Given the description of an element on the screen output the (x, y) to click on. 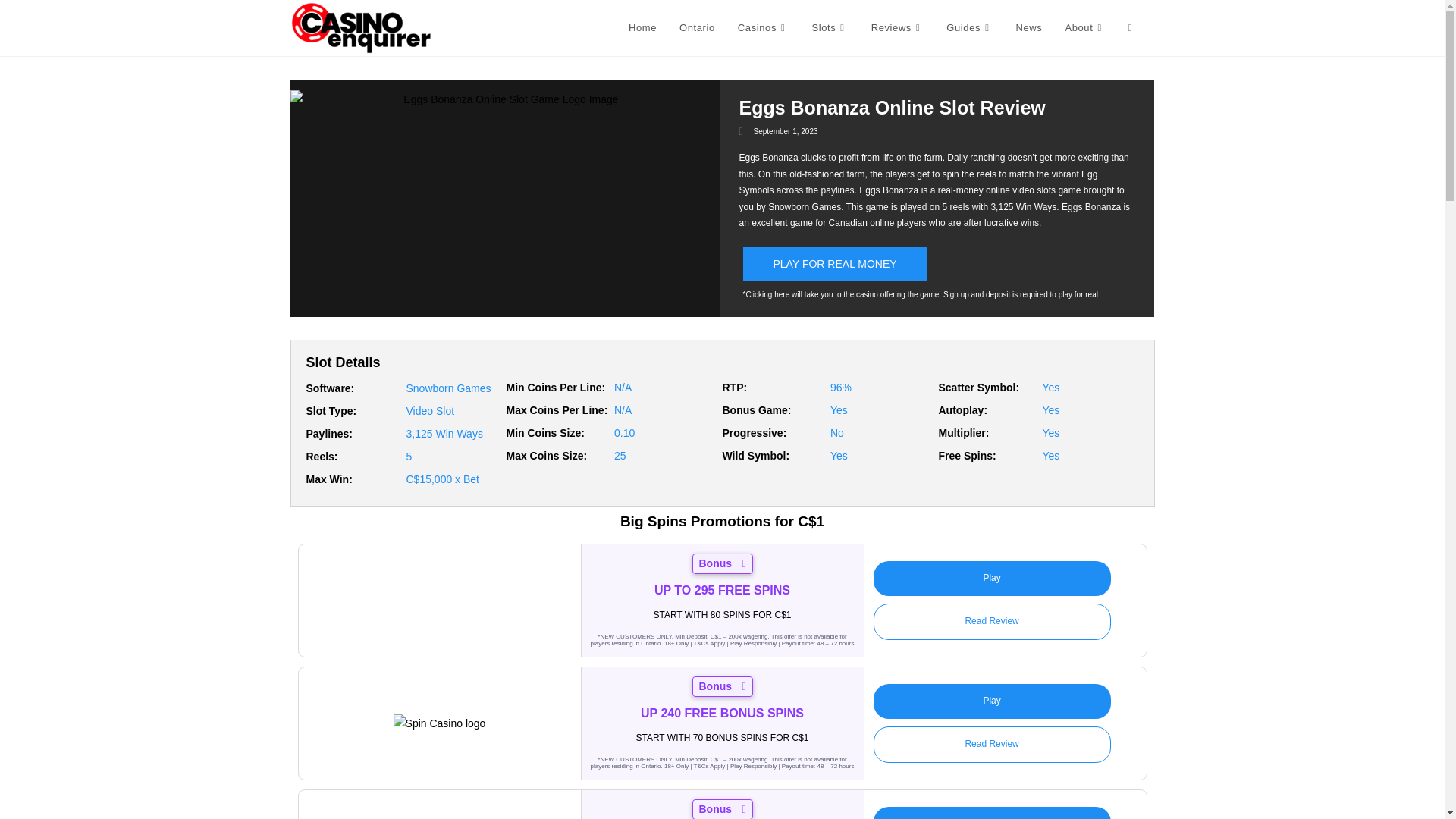
Casinos (763, 28)
Reviews (898, 28)
Slots (829, 28)
Home (642, 28)
Ontario (697, 28)
Guides (969, 28)
About (1084, 28)
